Given the description of an element on the screen output the (x, y) to click on. 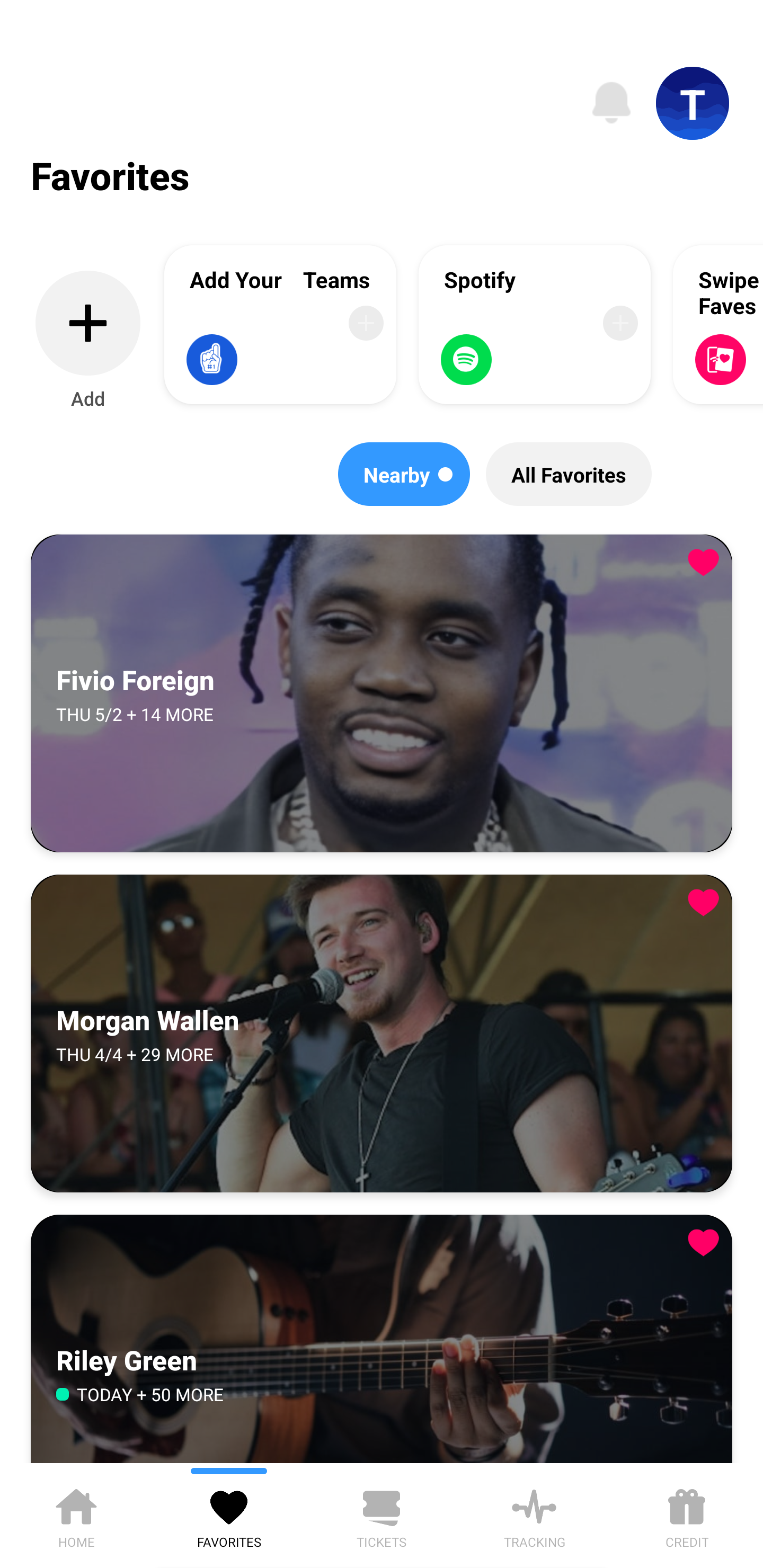
T (692, 103)
Add Your    Teams (279, 324)
Spotify (534, 324)
Add (87, 340)
Nearby (404, 474)
All Favorites (568, 474)
HOME (76, 1515)
FAVORITES (228, 1515)
TICKETS (381, 1515)
TRACKING (533, 1515)
CREDIT (686, 1515)
